Given the description of an element on the screen output the (x, y) to click on. 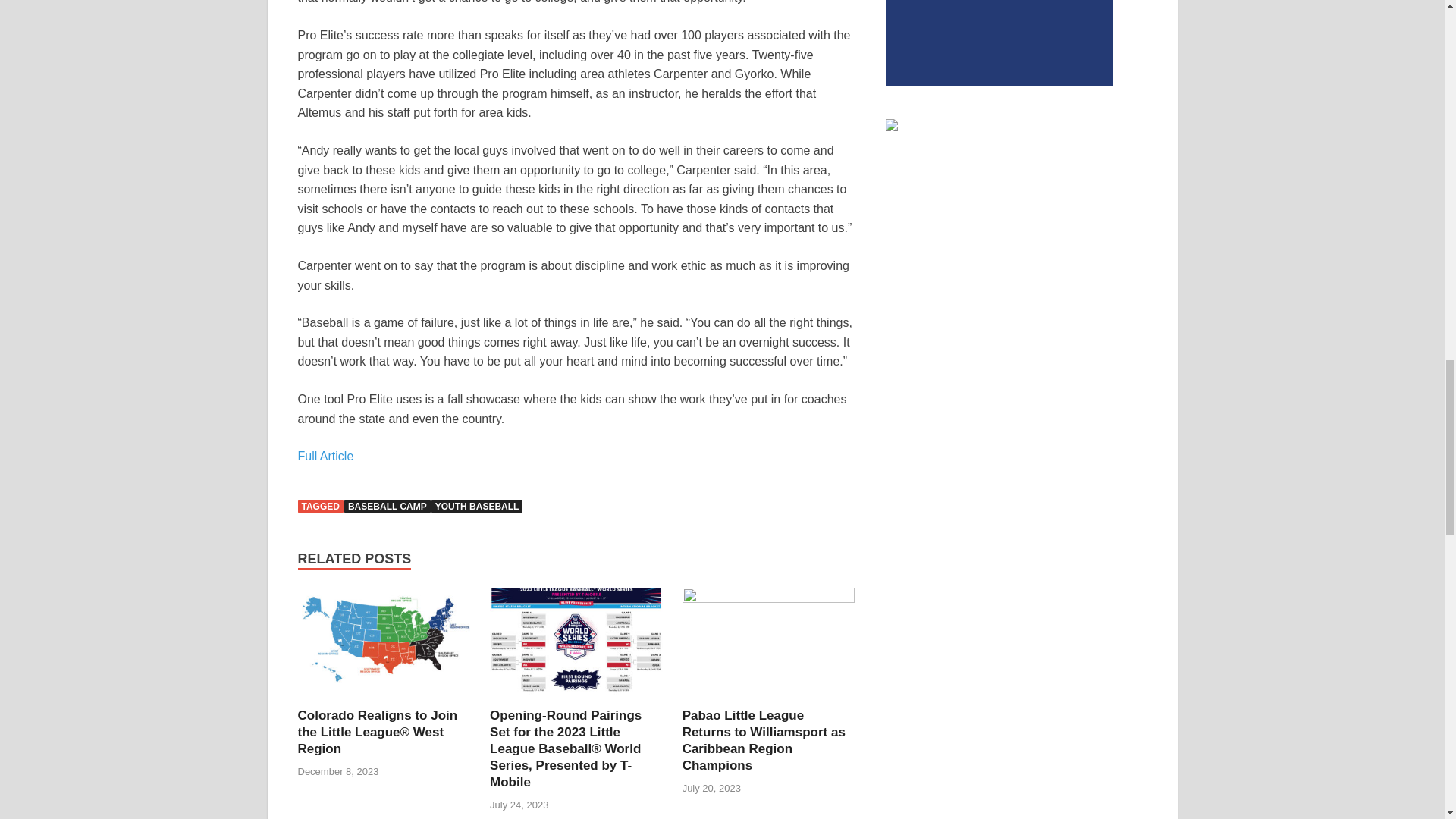
BASEBALL CAMP (386, 506)
YOUTH BASEBALL (476, 506)
Full Article (325, 455)
